Given the description of an element on the screen output the (x, y) to click on. 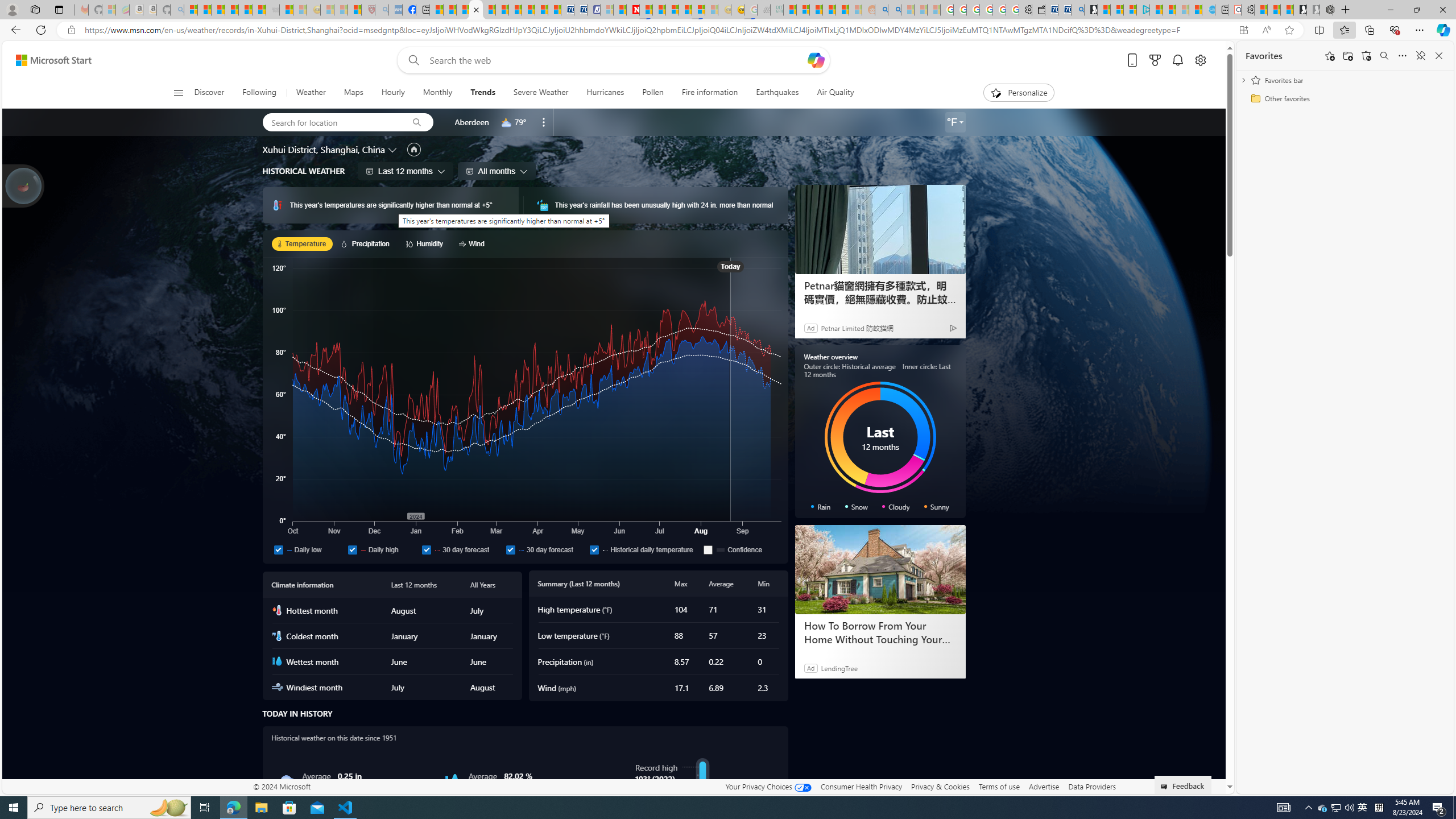
Pollen (652, 92)
Local - MSN (354, 9)
Restore deleted favorites (1366, 55)
Wind (473, 243)
